Given the description of an element on the screen output the (x, y) to click on. 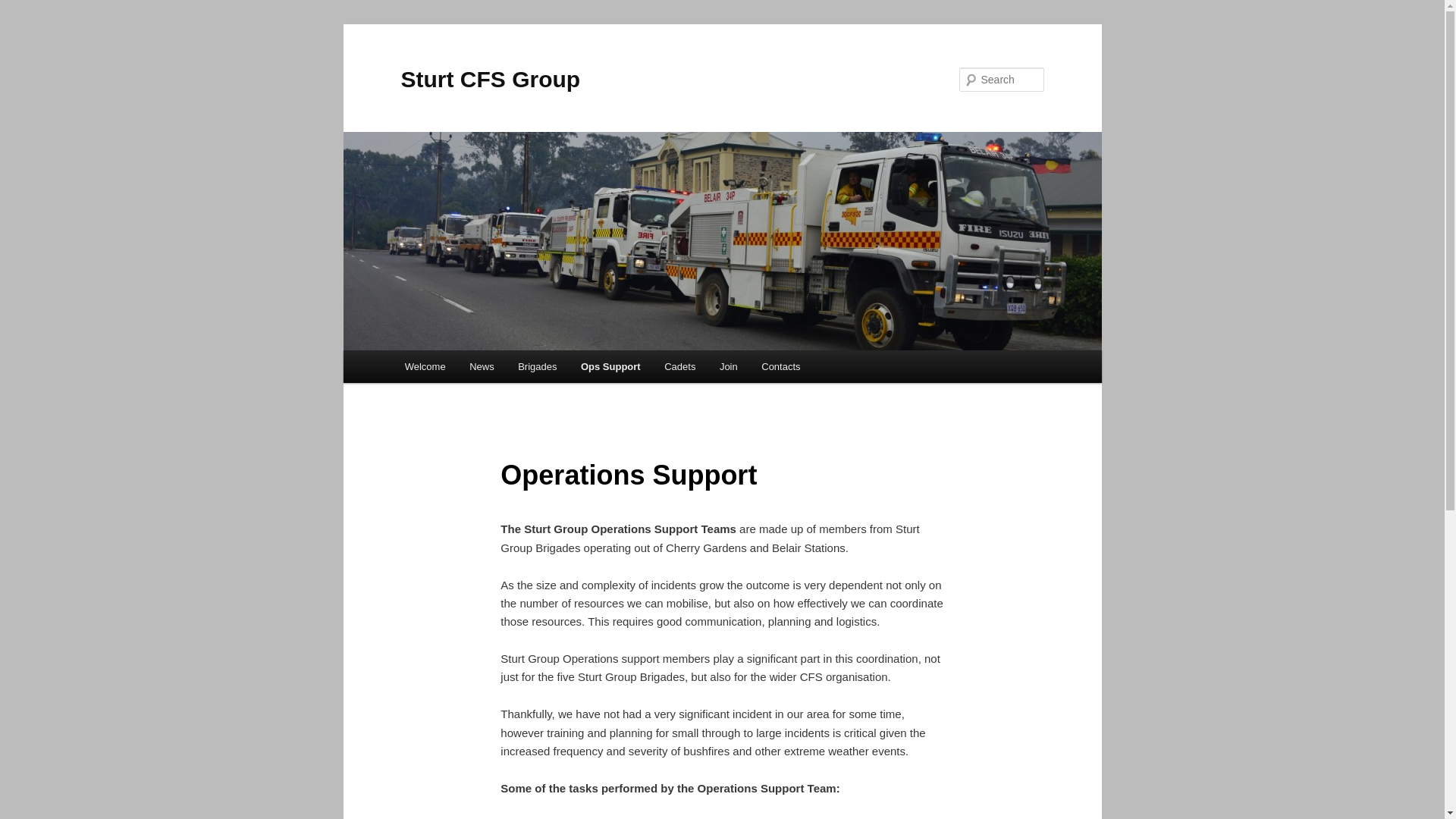
Ops Support Element type: text (610, 366)
Join Element type: text (728, 366)
Sturt CFS Group Element type: text (490, 78)
Contacts Element type: text (780, 366)
News Element type: text (481, 366)
Welcome Element type: text (424, 366)
Cadets Element type: text (679, 366)
Skip to primary content Element type: text (22, 22)
Brigades Element type: text (536, 366)
Search Element type: text (24, 8)
